Given the description of an element on the screen output the (x, y) to click on. 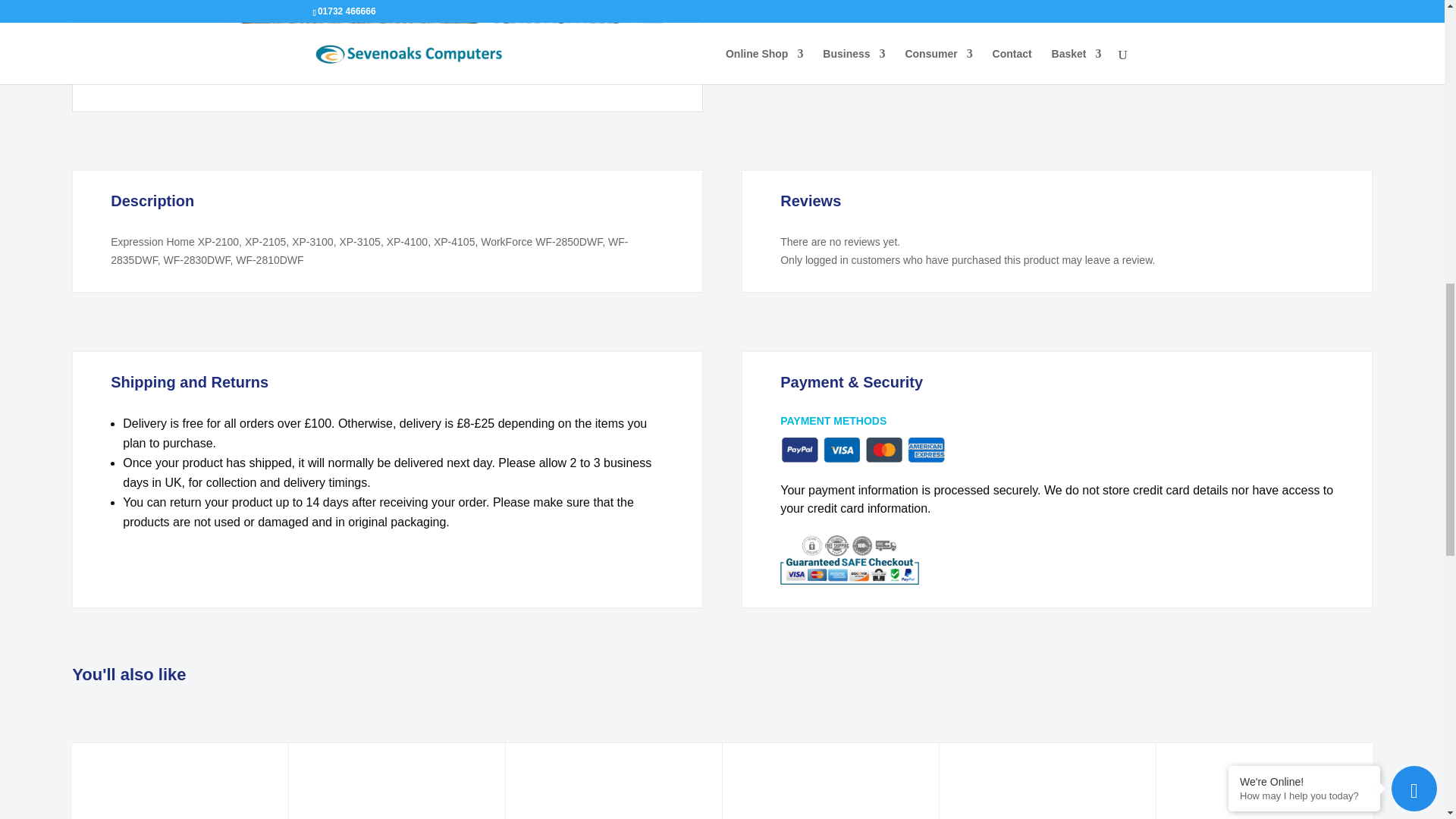
07d79d34871459d2c42cf2c2fb3bfa40f83833f7-1.png (445, 42)
Guaranteed-Safe-Checkout-PNG-Free-Download (849, 560)
